Given the description of an element on the screen output the (x, y) to click on. 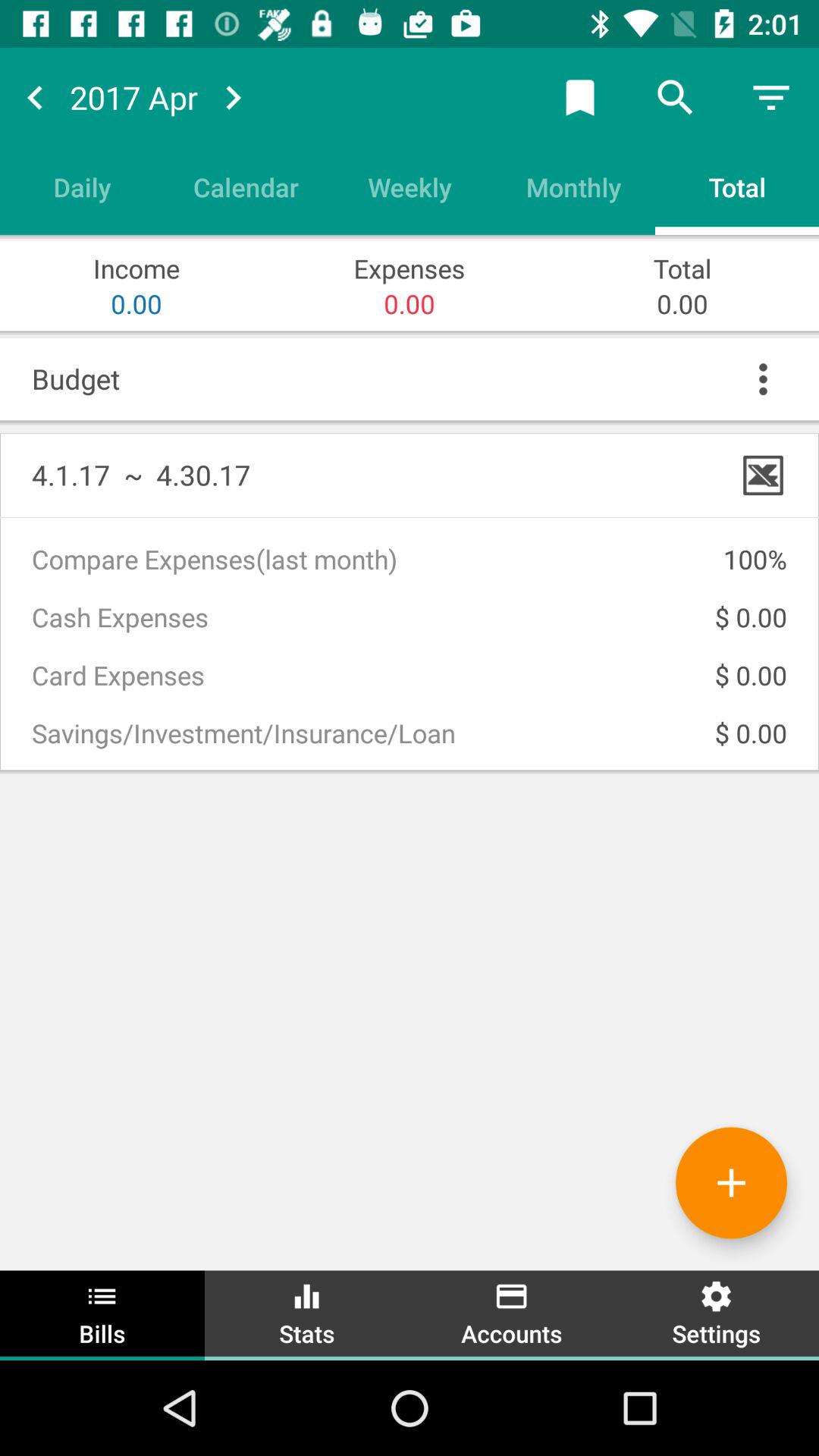
go to next (34, 97)
